Given the description of an element on the screen output the (x, y) to click on. 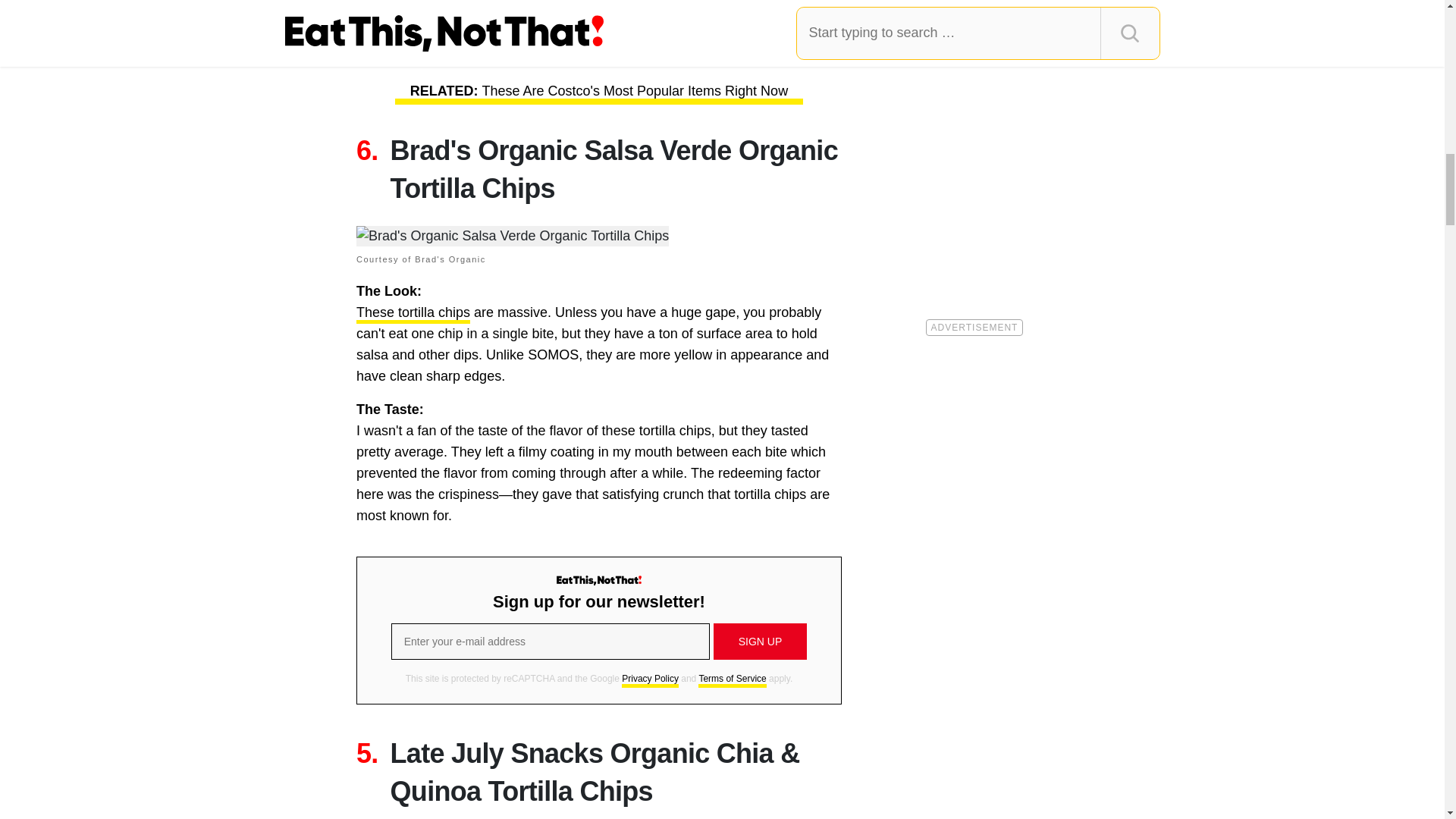
Sign Up (760, 641)
Eat This Not That (599, 580)
